Given the description of an element on the screen output the (x, y) to click on. 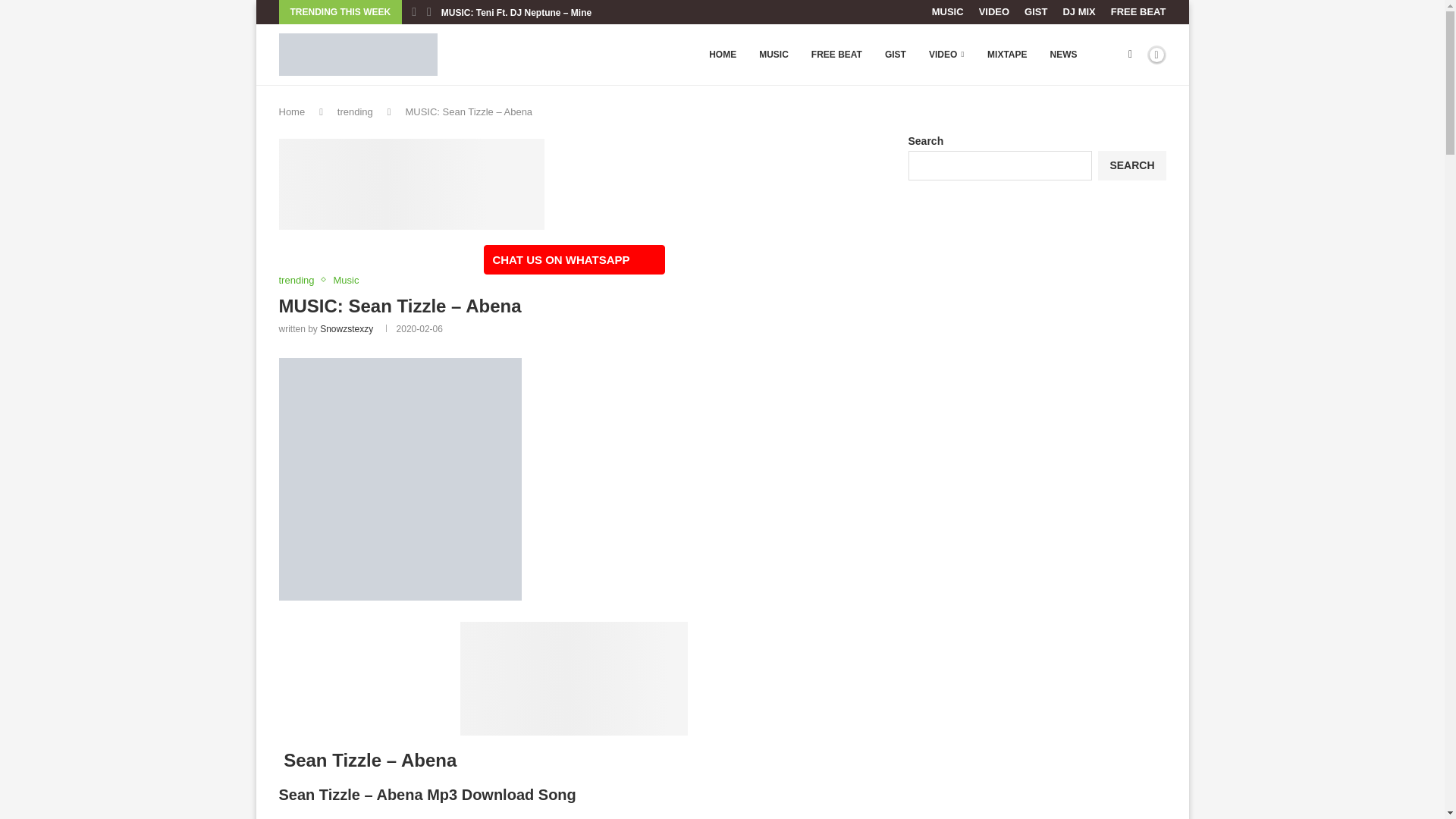
CHAT US ON WHATSAPP (573, 259)
trending (300, 280)
MIXTAPE (1006, 54)
VIDEO (993, 12)
MUSIC (947, 12)
Snowzstexzy (346, 328)
DJ MIX (1078, 12)
GIST (1035, 12)
Music (345, 280)
Home (292, 111)
